Given the description of an element on the screen output the (x, y) to click on. 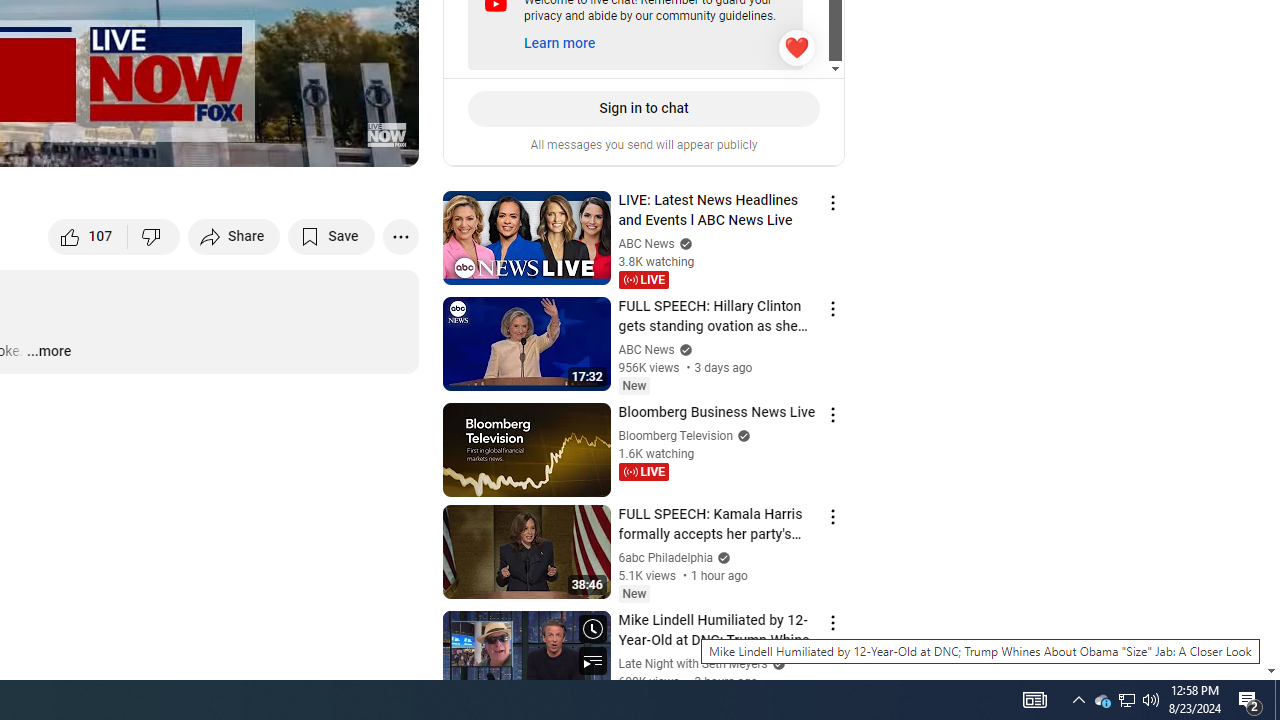
Channel watermark (386, 134)
Sign in to chat (643, 108)
Channel watermark (386, 134)
Dislike this video (154, 236)
Theater mode (t) (333, 142)
...more (47, 352)
Full screen (f) (382, 142)
LIVE (643, 471)
Autoplay is on (141, 142)
